Given the description of an element on the screen output the (x, y) to click on. 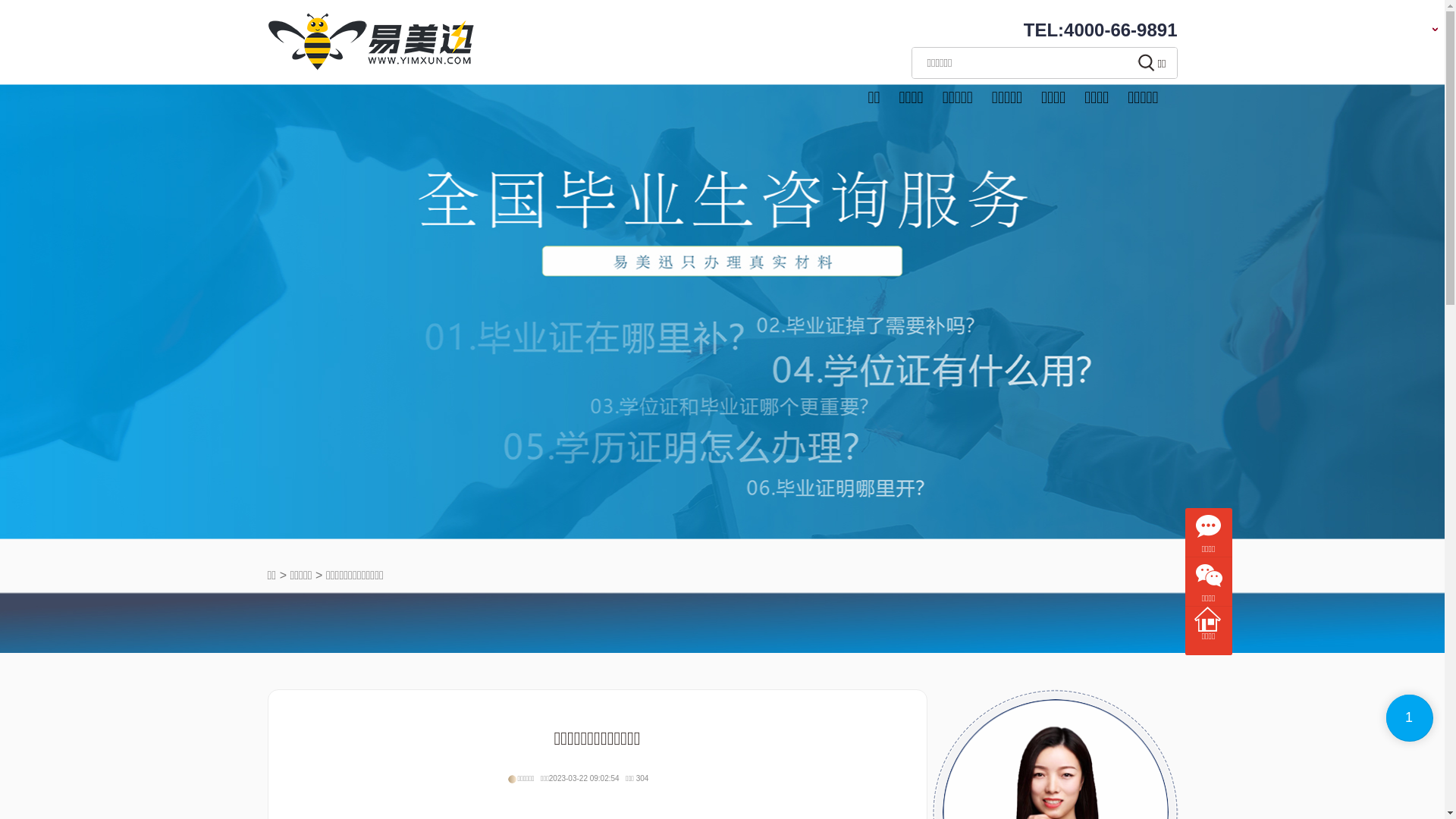
1 Element type: text (1409, 717)
